Given the description of an element on the screen output the (x, y) to click on. 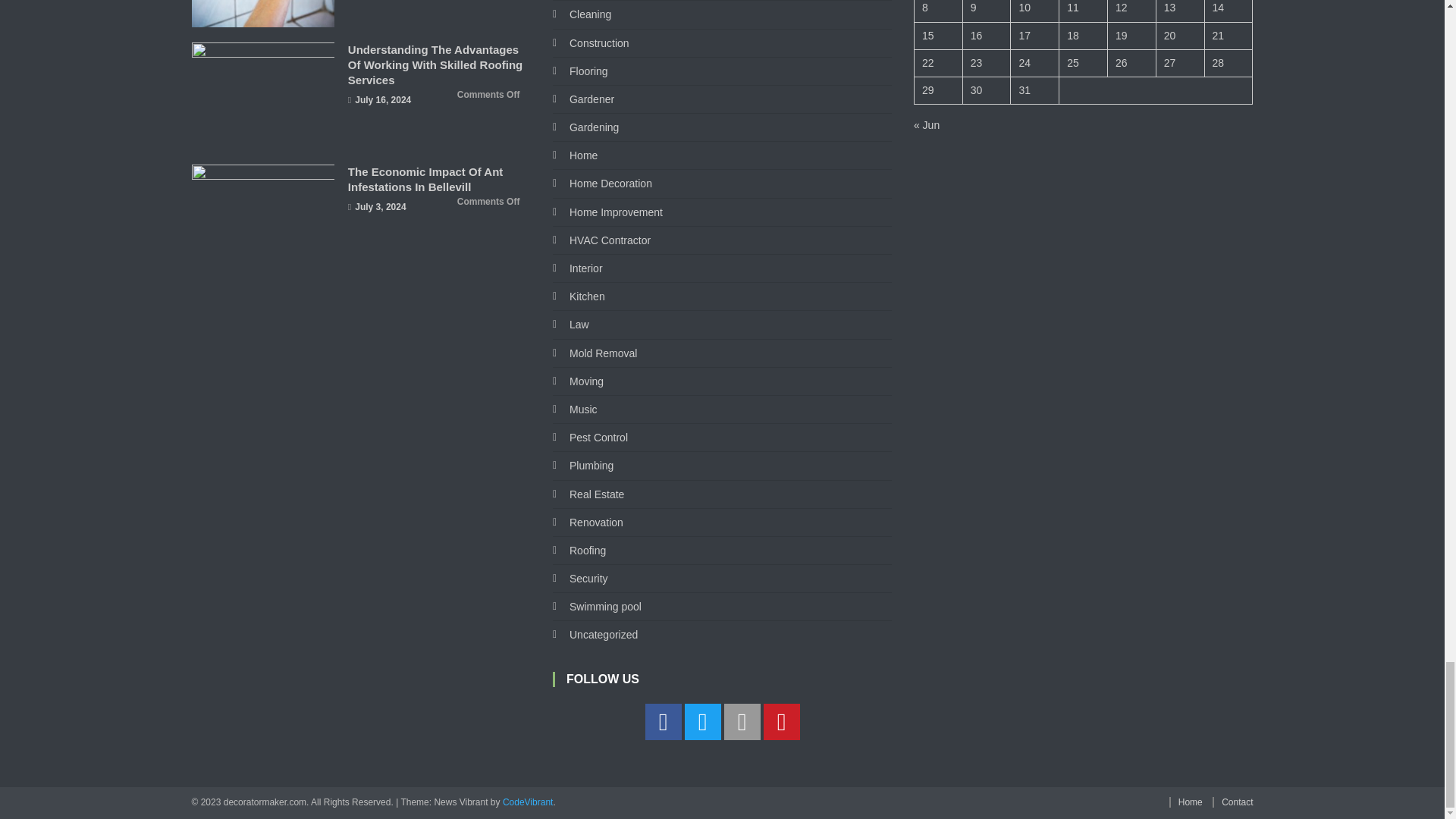
Pinterest (780, 721)
Facebook (663, 721)
LinkedIn (741, 721)
Twitter (702, 721)
